Given the description of an element on the screen output the (x, y) to click on. 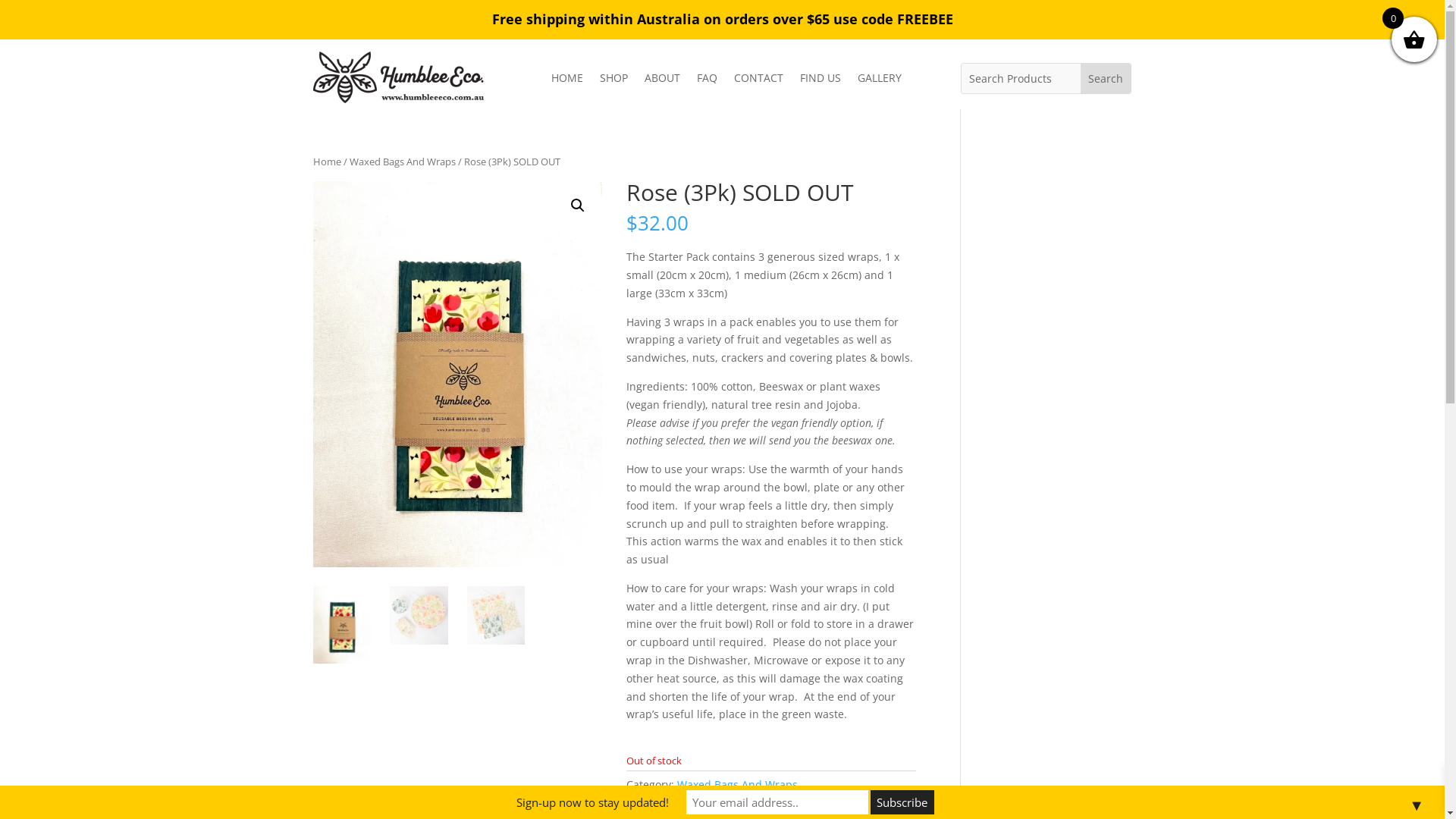
FIND US Element type: text (820, 80)
HOME Element type: text (567, 80)
Waxed Bags And Wraps Element type: text (401, 161)
ABOUT Element type: text (662, 80)
GALLERY Element type: text (879, 80)
humblee-logo-medium Element type: hover (397, 77)
CONTACT Element type: text (758, 80)
Subscribe Element type: text (902, 802)
Waxed Bags And Wraps Element type: text (737, 784)
SHOP Element type: text (613, 80)
Rose Pack Element type: hover (457, 374)
FAQ Element type: text (706, 80)
Search Element type: text (1105, 78)
Home Element type: text (326, 161)
